Given the description of an element on the screen output the (x, y) to click on. 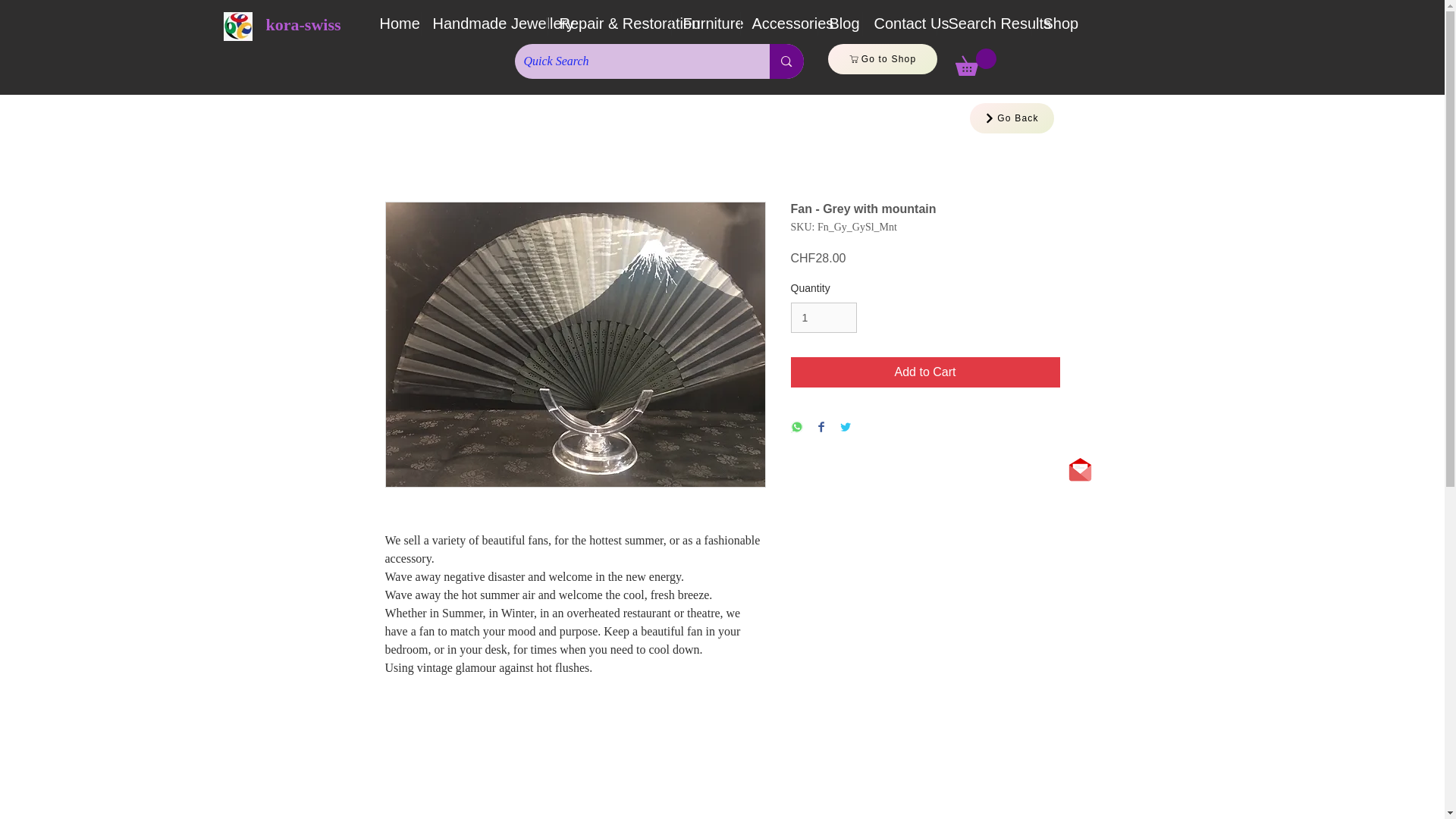
Accessories (777, 24)
1 (823, 317)
Furniture (705, 24)
Shop (1055, 24)
Contact Us (899, 24)
Go to Shop (882, 59)
Go Back (1010, 118)
Home (394, 24)
Search Results (983, 24)
Click here to contact us with questions (1079, 469)
Blog (838, 24)
Handmade Jewellery (484, 24)
Add to Cart (924, 372)
